Given the description of an element on the screen output the (x, y) to click on. 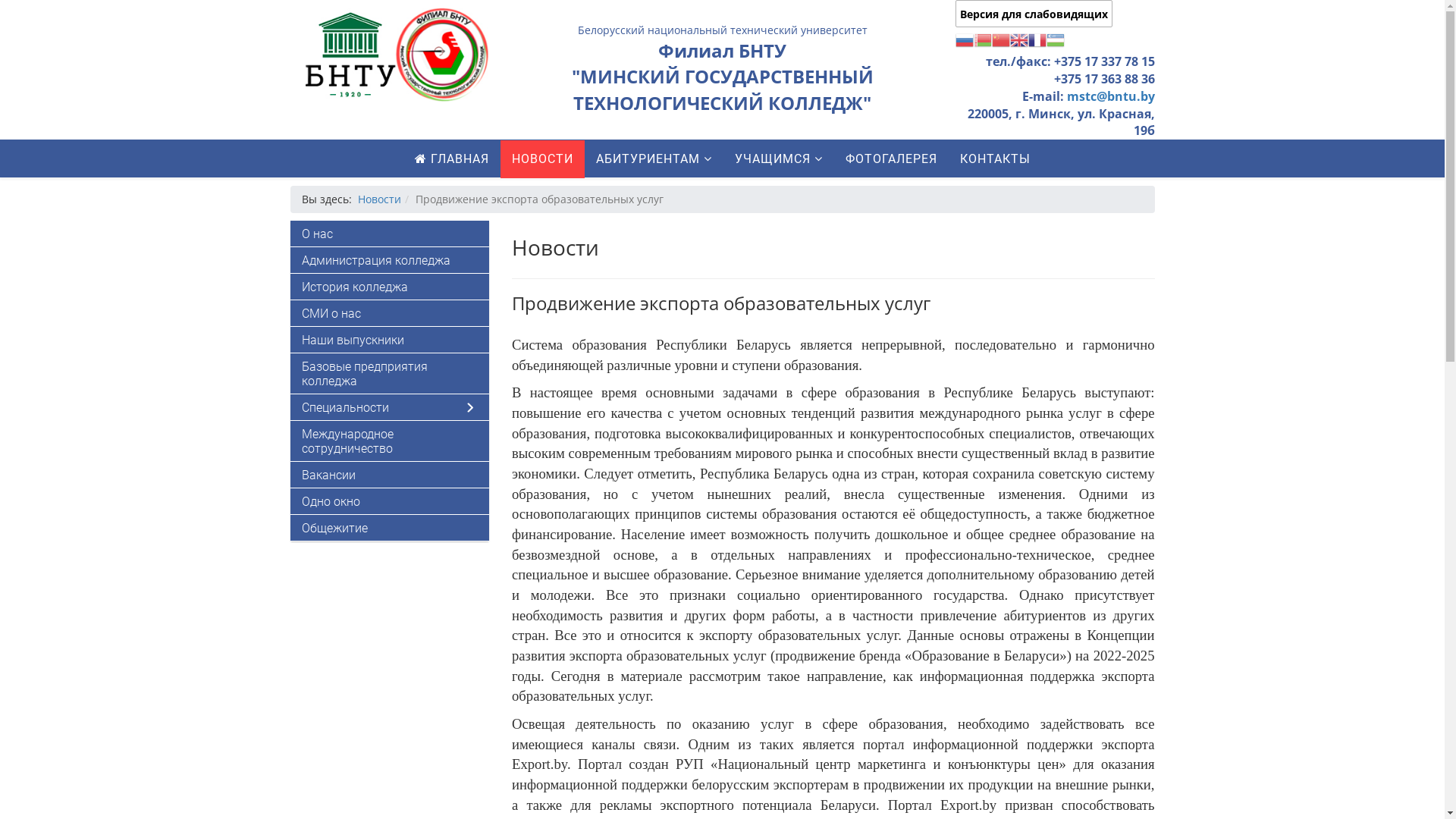
French Element type: hover (1037, 38)
English Element type: hover (1019, 38)
mstc@bntu.by Element type: text (1110, 95)
Belarusian Element type: hover (982, 38)
Chinese (Simplified) Element type: hover (1000, 38)
Russian Element type: hover (964, 38)
Uzbek Element type: hover (1055, 38)
